Given the description of an element on the screen output the (x, y) to click on. 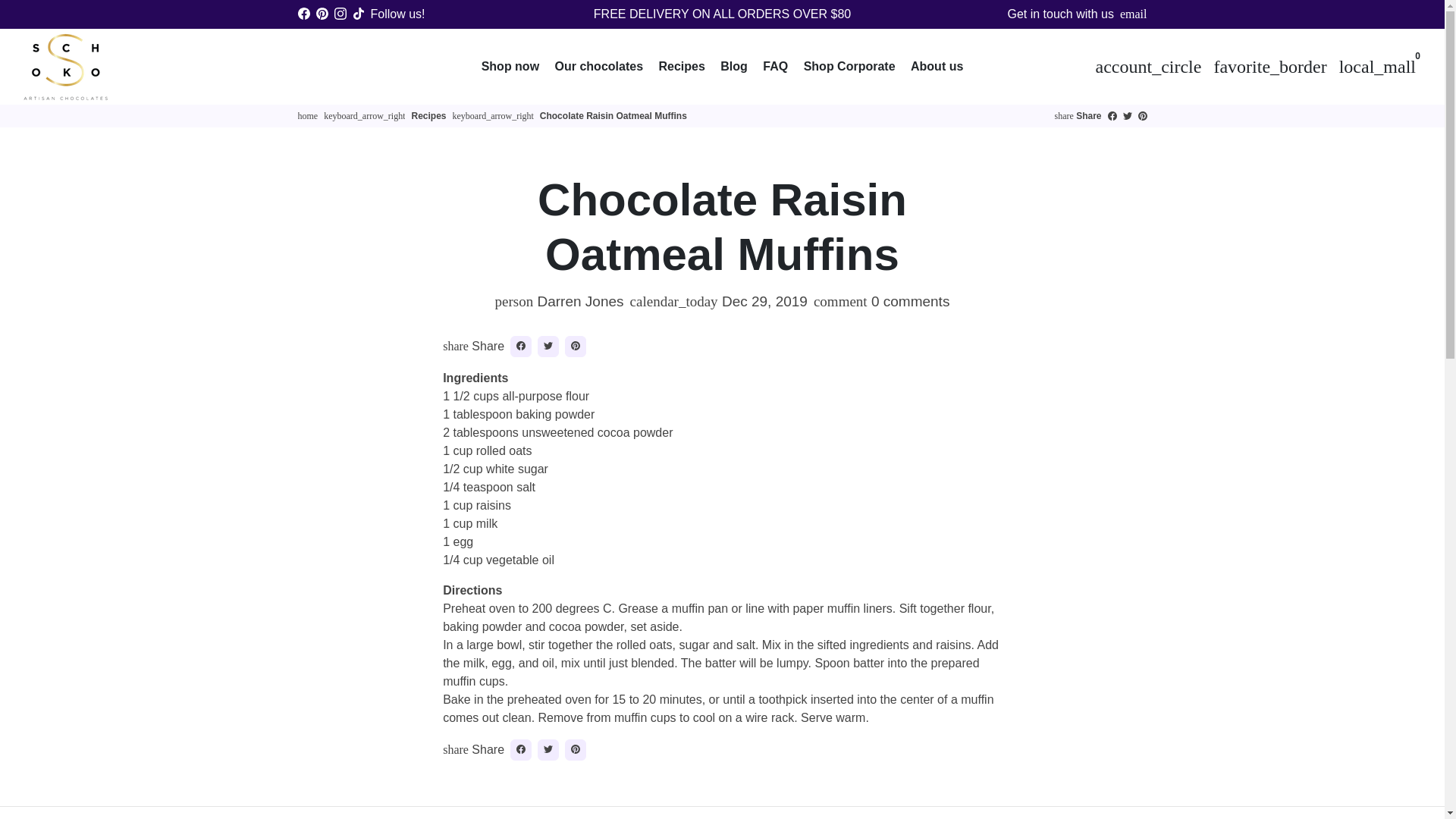
Schoko Chocolate on Tiktok (358, 13)
Schoko Chocolate on Instagram (339, 13)
Schoko Chocolate on Facebook (302, 13)
Log In (1148, 66)
Schoko Chocolate on Pinterest (321, 13)
